Given the description of an element on the screen output the (x, y) to click on. 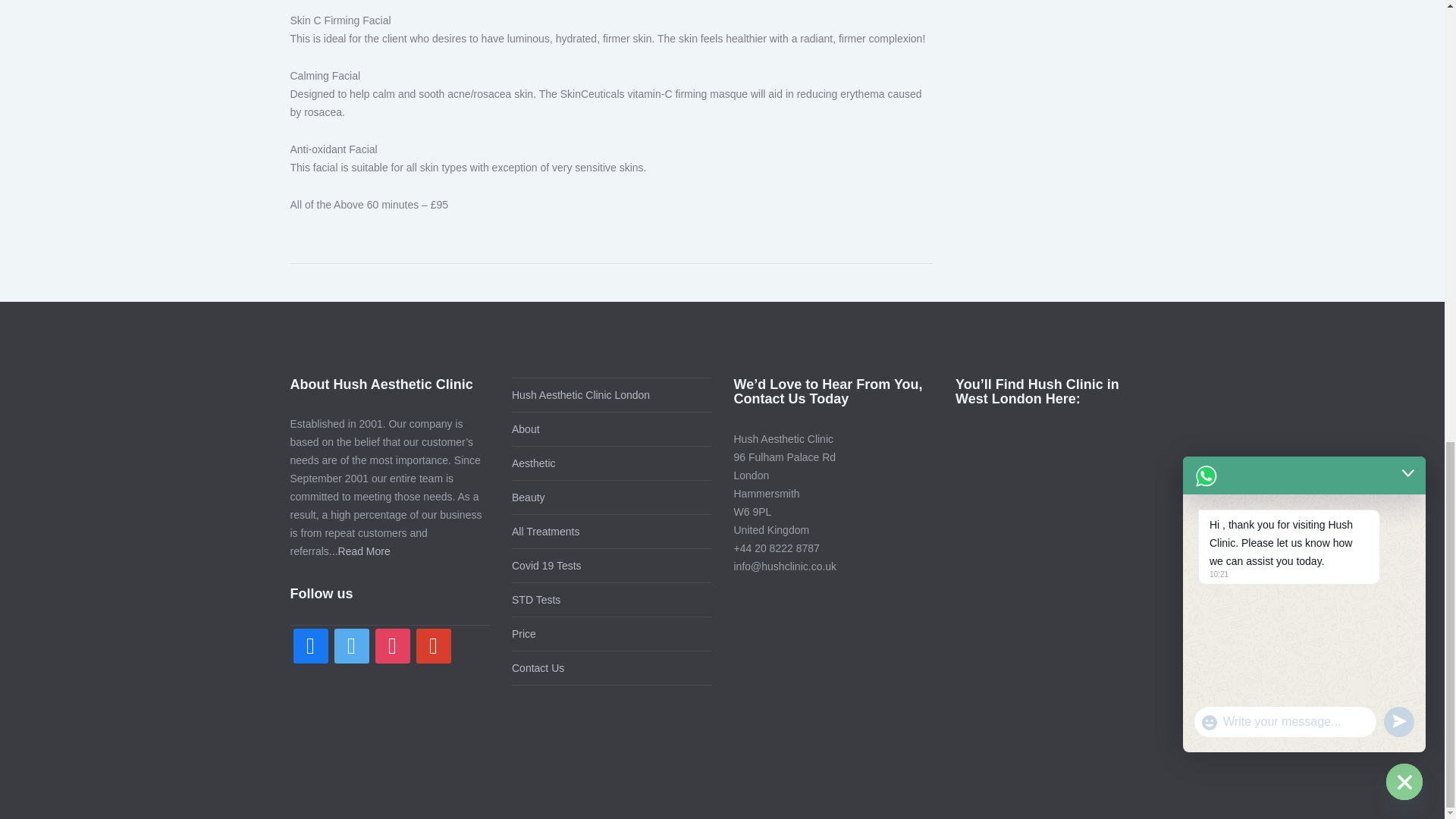
Beauty (528, 496)
All Treatments (545, 531)
Hush Aesthetic Clinic London (580, 395)
Aesthetic (534, 463)
google (431, 645)
About (526, 428)
Instagram (391, 645)
STD Tests (536, 599)
Read More (363, 551)
Contact Us (538, 667)
